Given the description of an element on the screen output the (x, y) to click on. 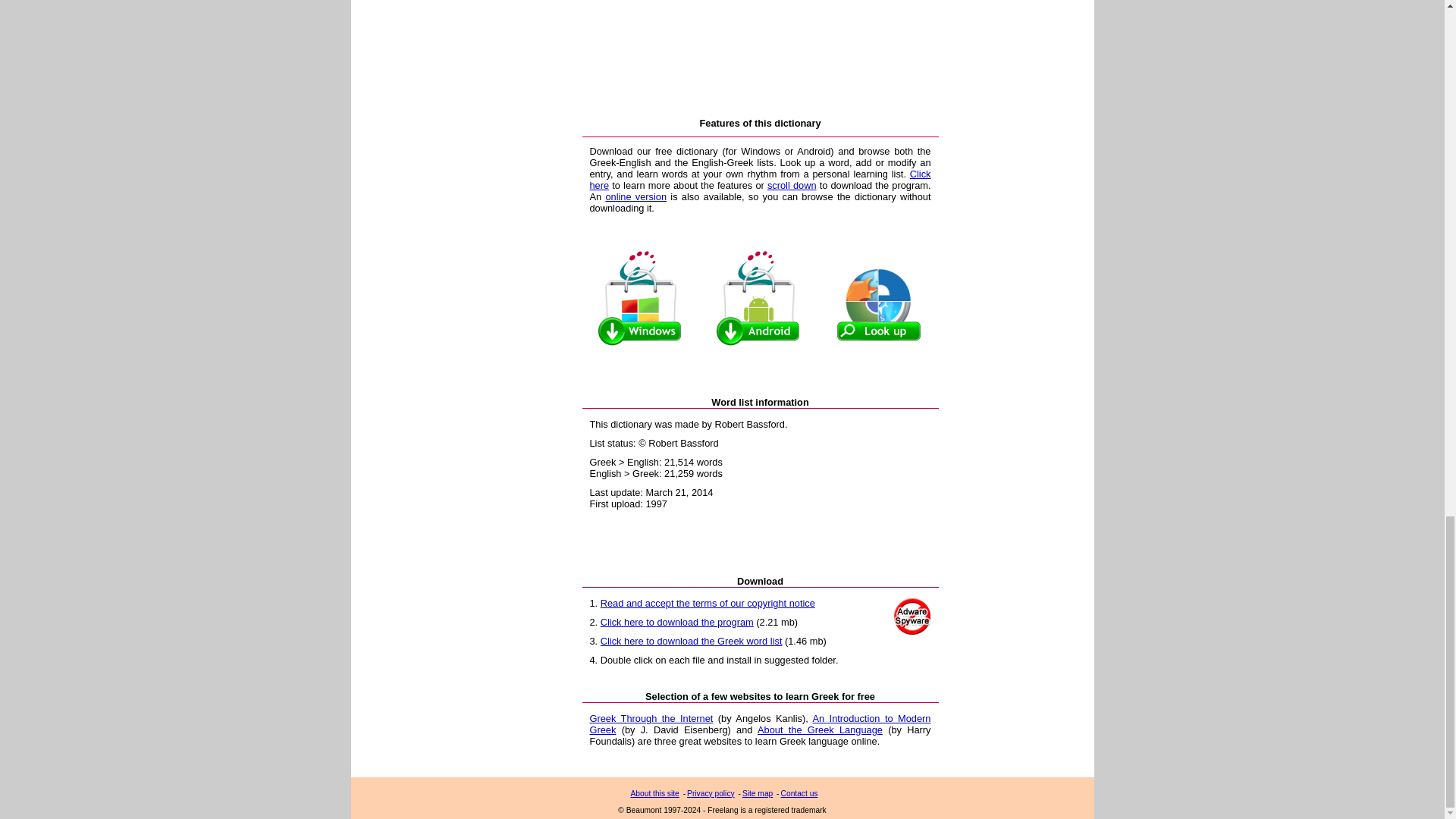
Click here (760, 179)
scroll down (791, 184)
online version (635, 196)
